Given the description of an element on the screen output the (x, y) to click on. 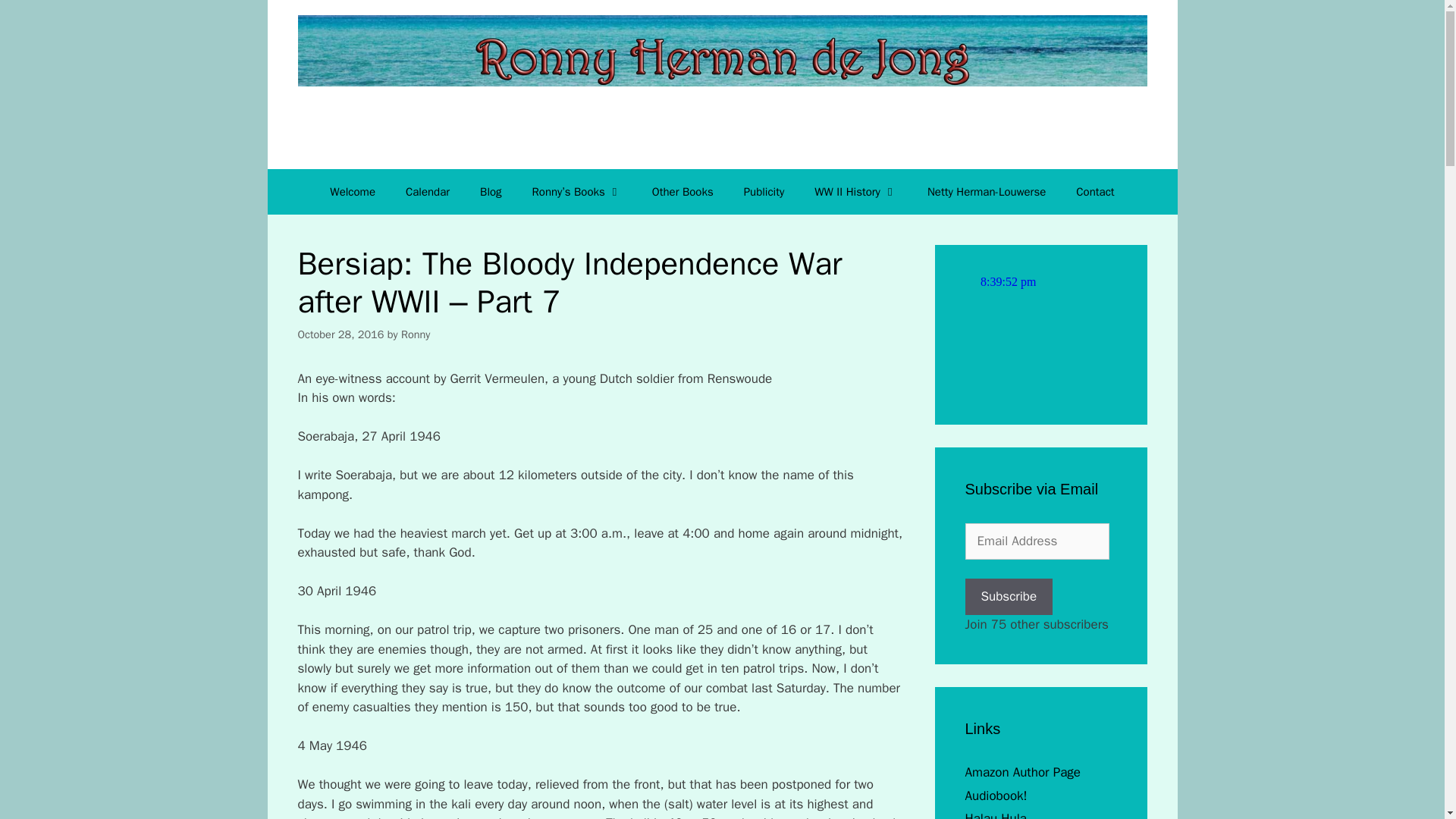
WW II History (855, 191)
Subscribe (1007, 596)
Netty Herman-Louwerse (986, 191)
View all posts by Ronny (415, 334)
Halau Hula Napuaokalei'ilima (1013, 814)
Contact (1095, 191)
Amazon Author Page (1021, 772)
Ronny (415, 334)
Calendar (427, 191)
